Given the description of an element on the screen output the (x, y) to click on. 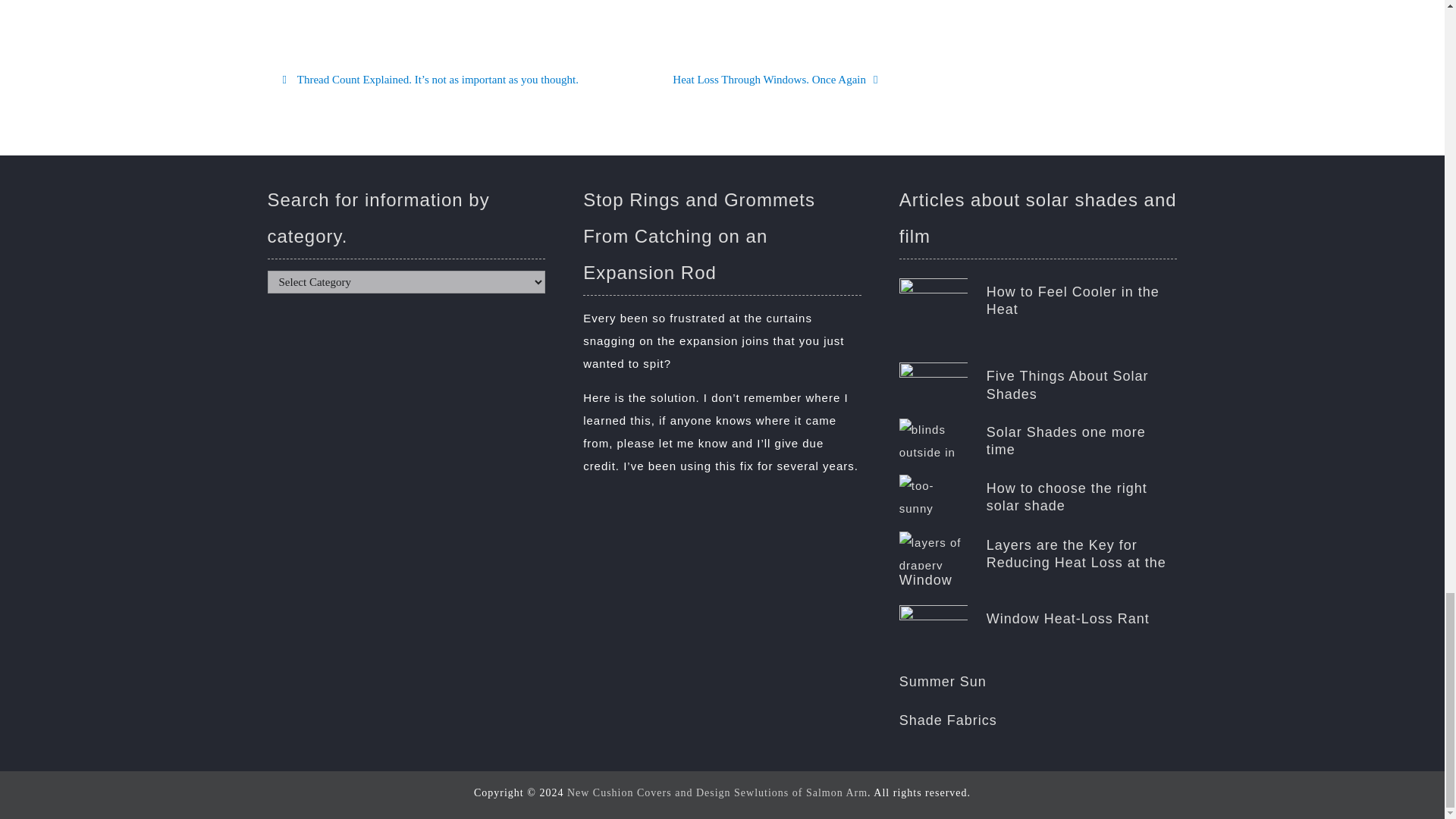
How to Feel Cooler in the Heat (1038, 301)
Five Things About Solar Shades (774, 79)
